Given the description of an element on the screen output the (x, y) to click on. 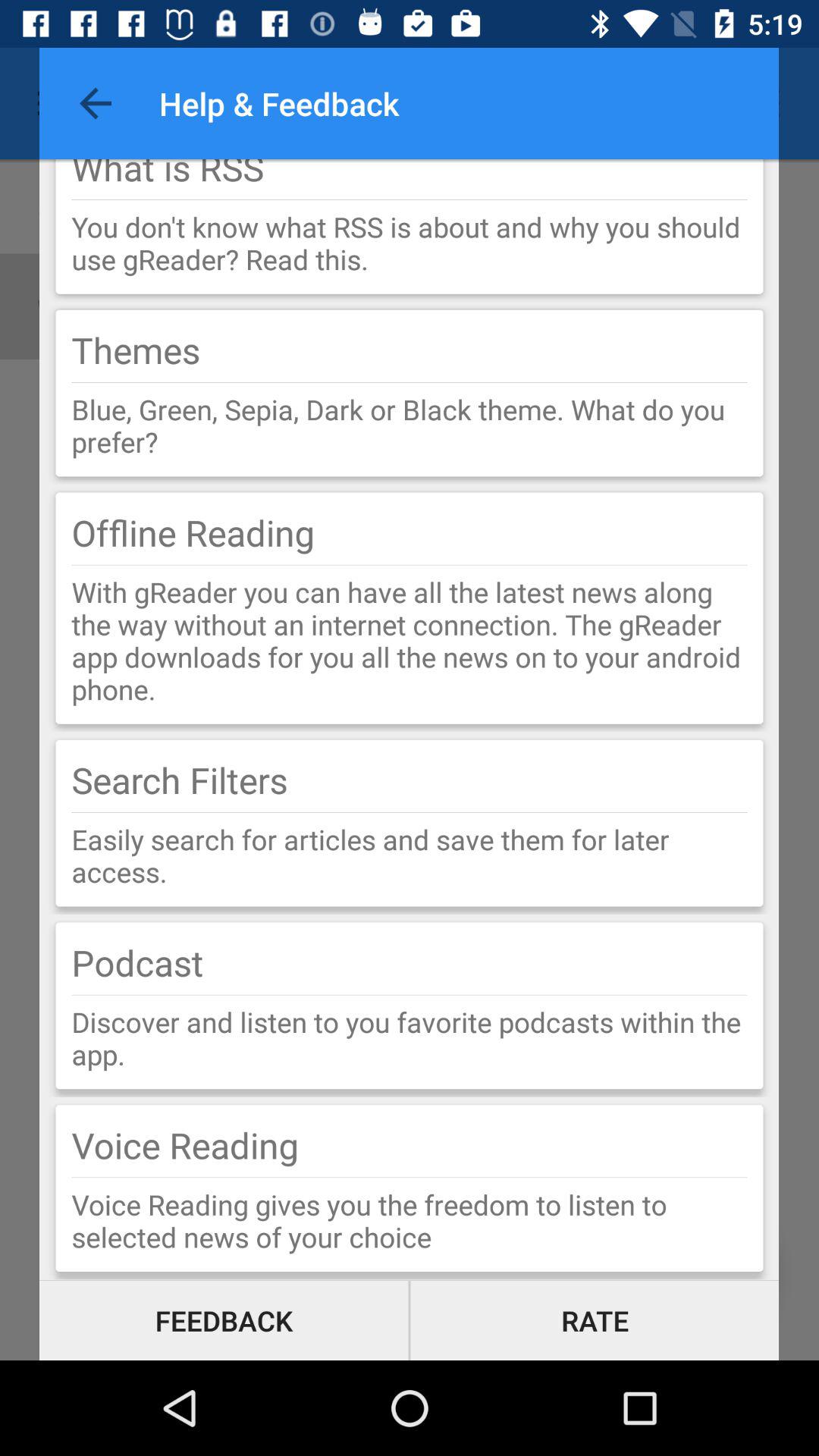
turn on item below the themes icon (409, 382)
